Given the description of an element on the screen output the (x, y) to click on. 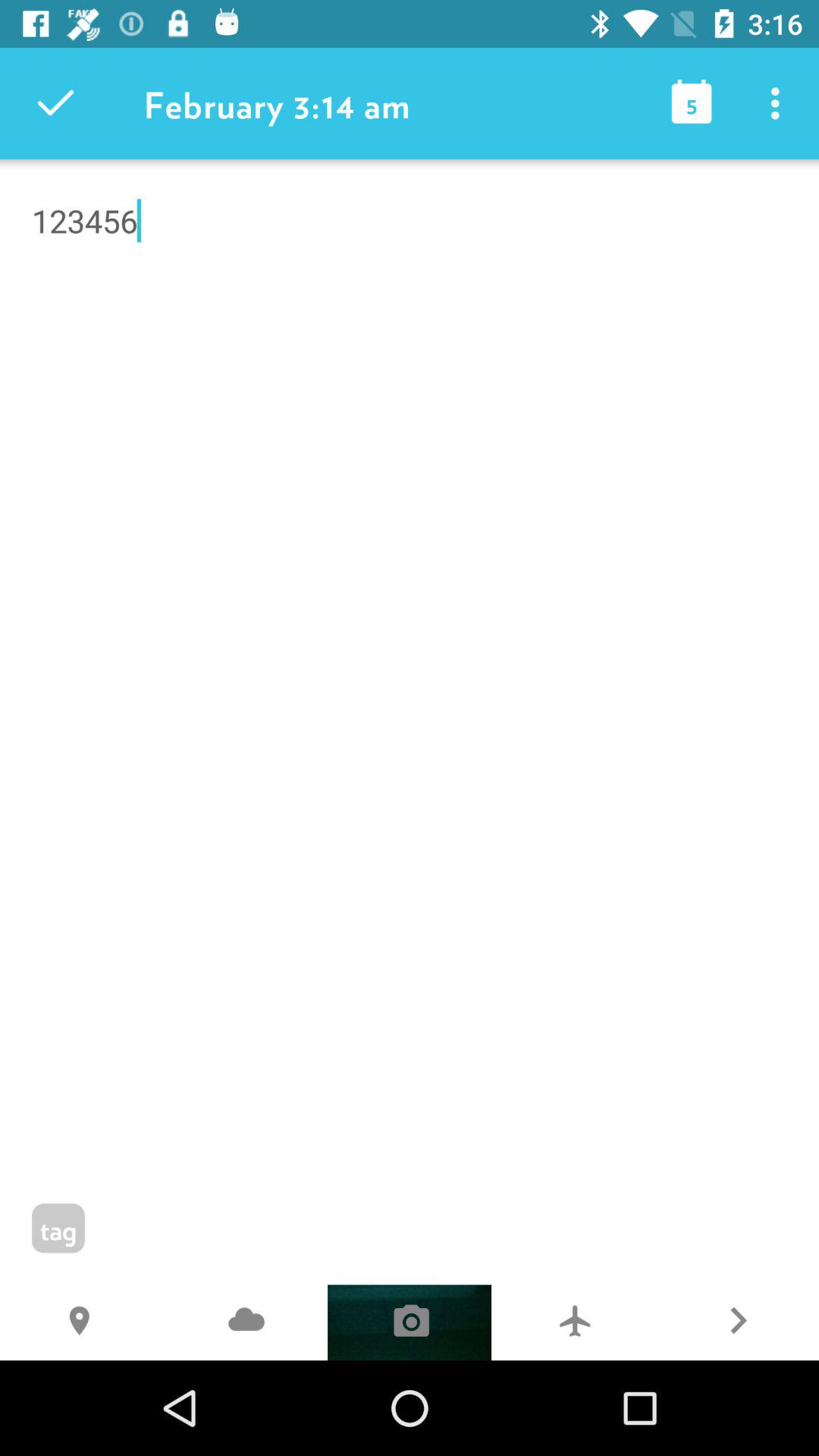
scroll until j (245, 1322)
